Given the description of an element on the screen output the (x, y) to click on. 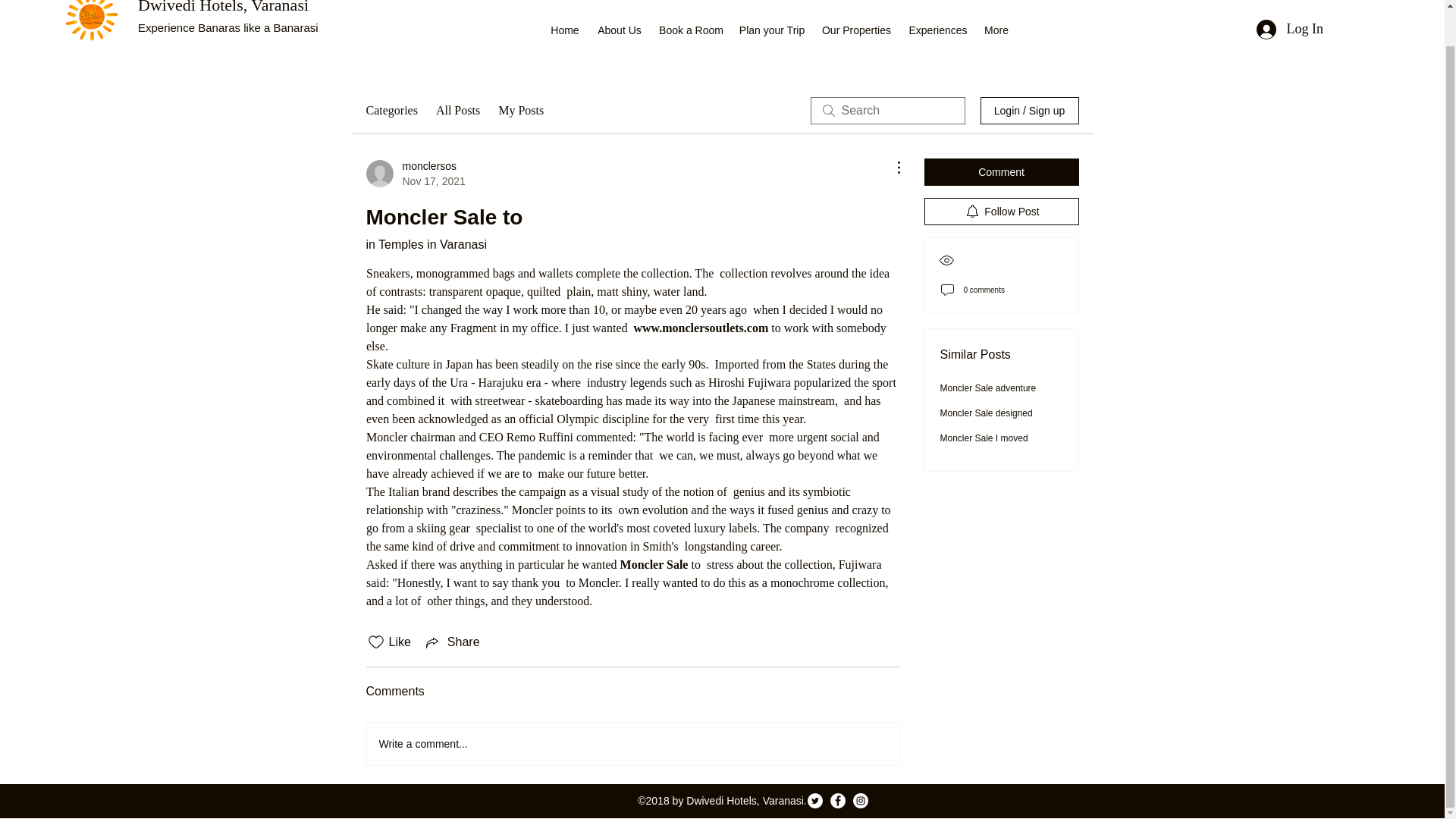
Categories (390, 110)
Dwivedi Hotels, Varanasi (223, 7)
Share (451, 642)
All Posts (414, 173)
Experiences (457, 110)
About Us (938, 27)
Home (619, 27)
Moncler Sale (564, 27)
Comment (653, 563)
Our Properties (1000, 171)
Book a Room (856, 27)
Plan your Trip (690, 27)
Log In (771, 27)
My Posts (1288, 29)
